Given the description of an element on the screen output the (x, y) to click on. 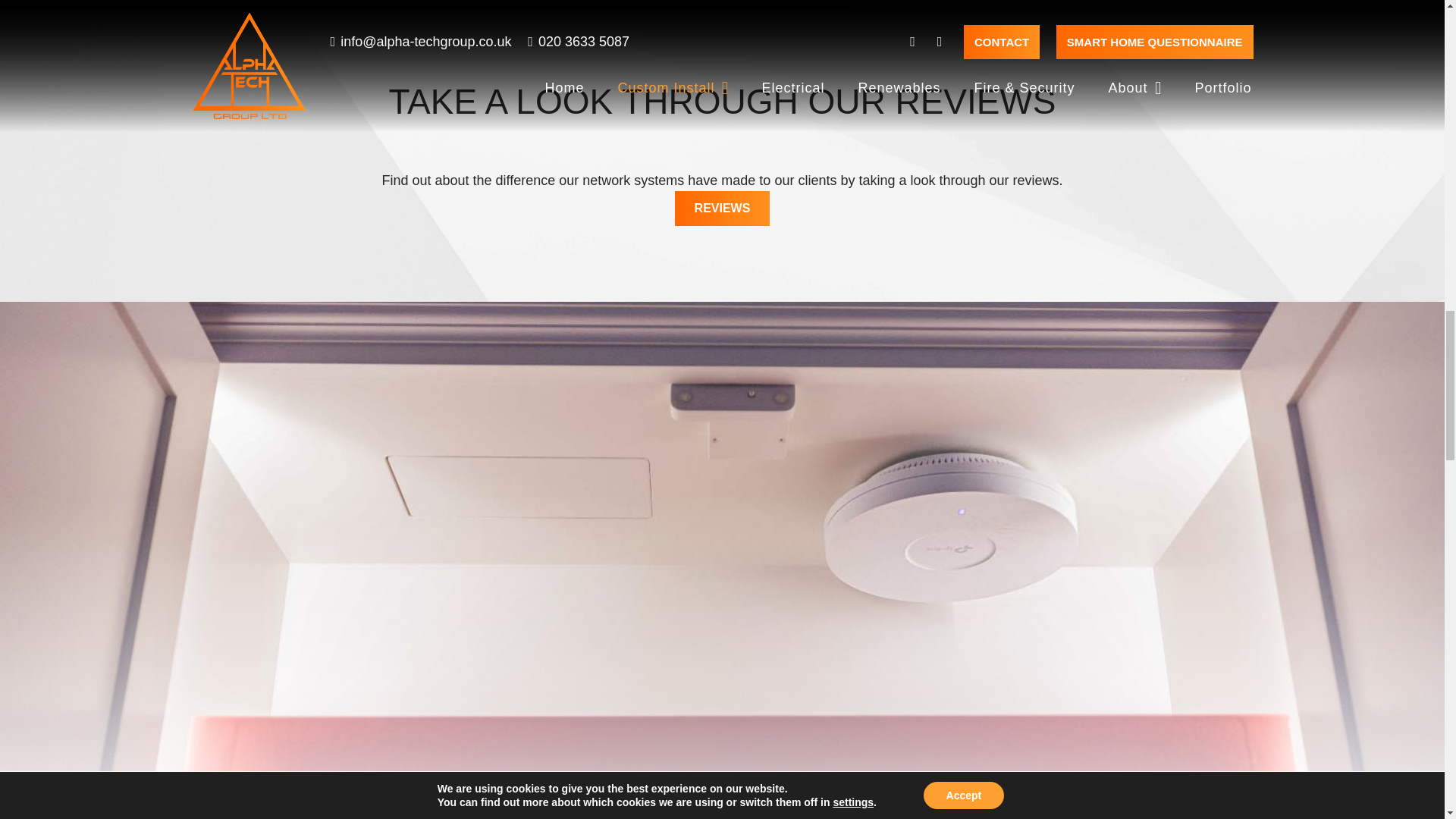
REVIEWS (722, 208)
